Given the description of an element on the screen output the (x, y) to click on. 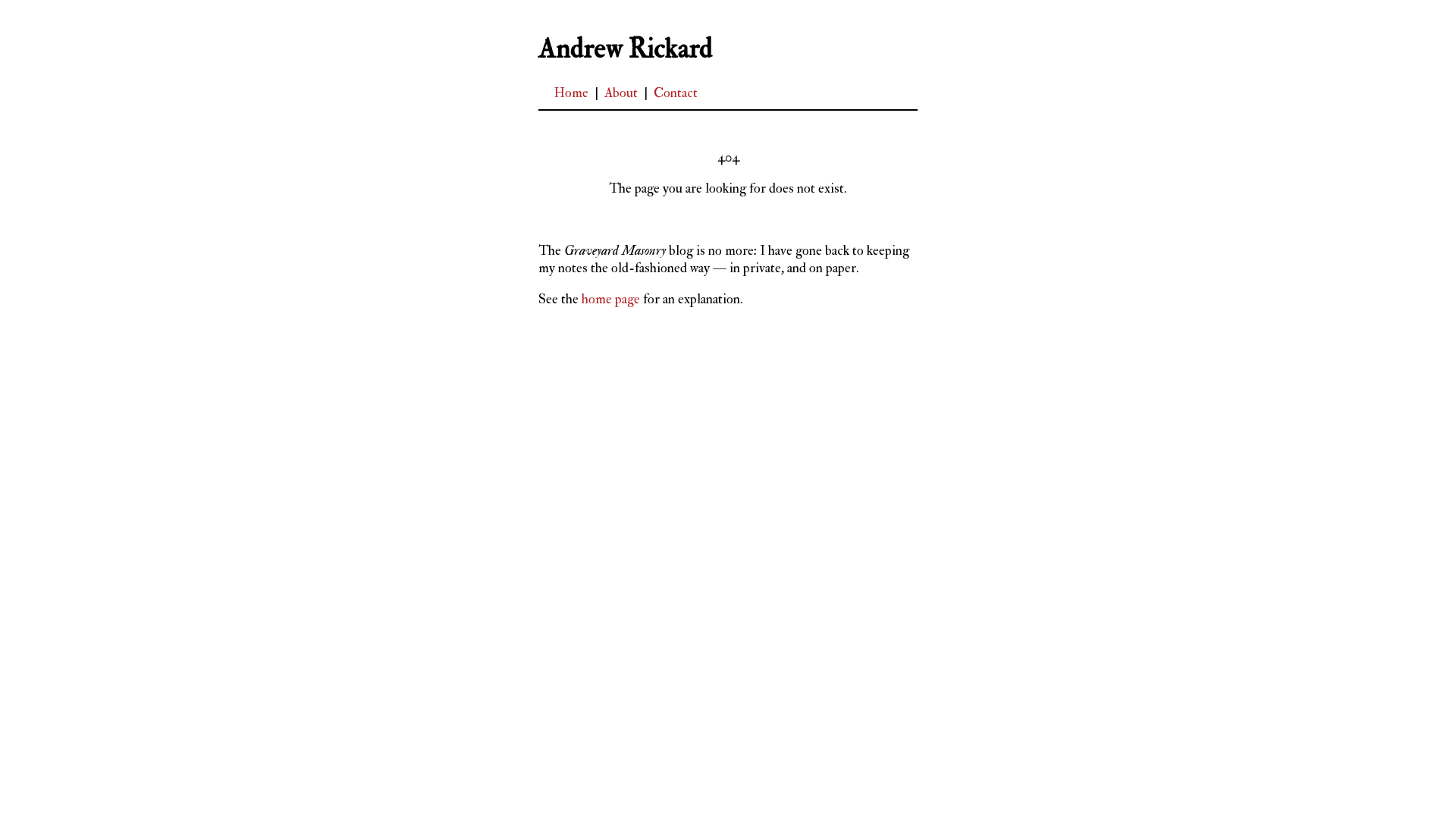
home page Element type: text (610, 298)
About Element type: text (620, 92)
Home Element type: text (570, 92)
Contact Element type: text (675, 92)
